Given the description of an element on the screen output the (x, y) to click on. 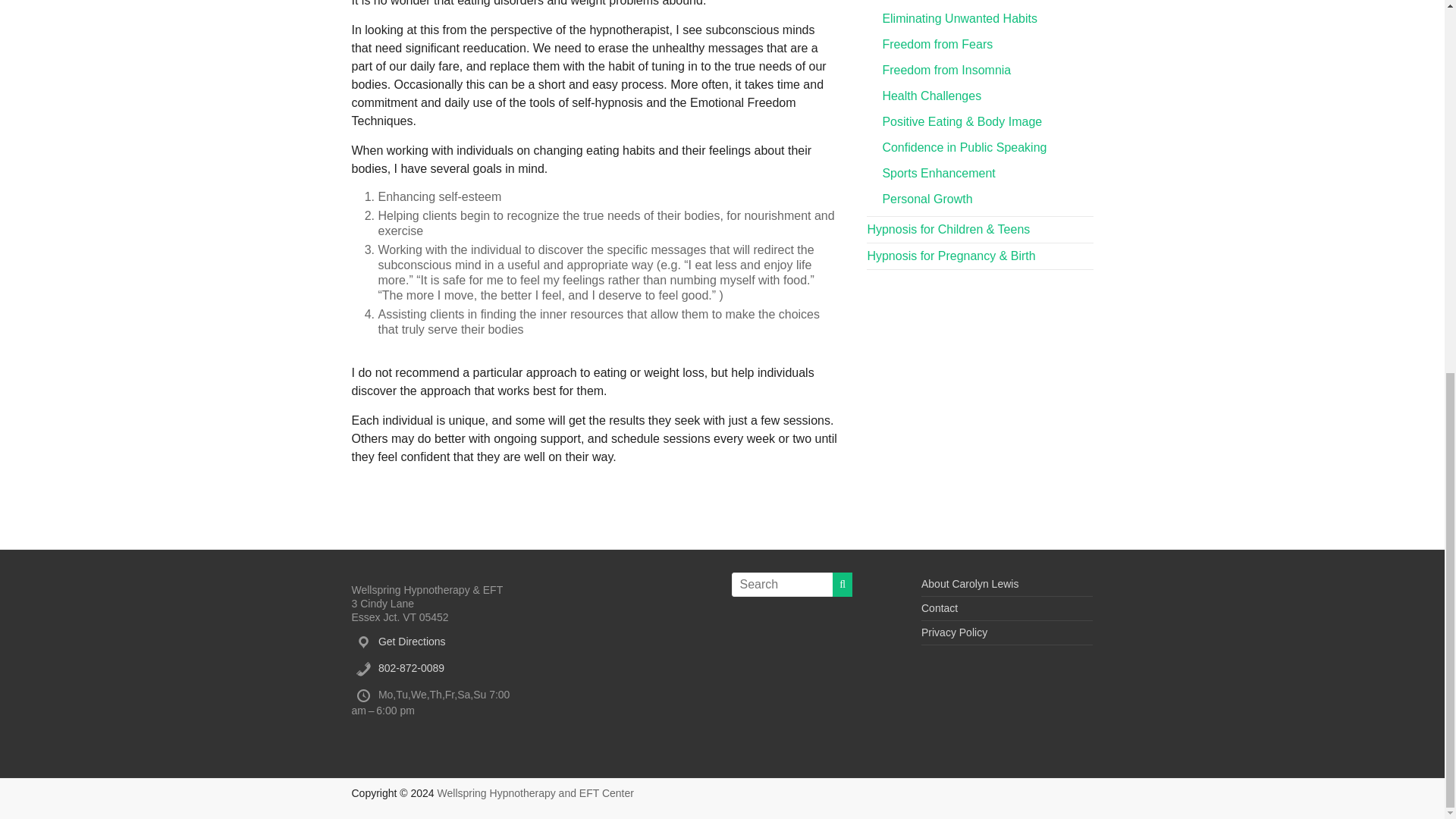
Wellspring Hypnotherapy and EFT Center (535, 793)
